Given the description of an element on the screen output the (x, y) to click on. 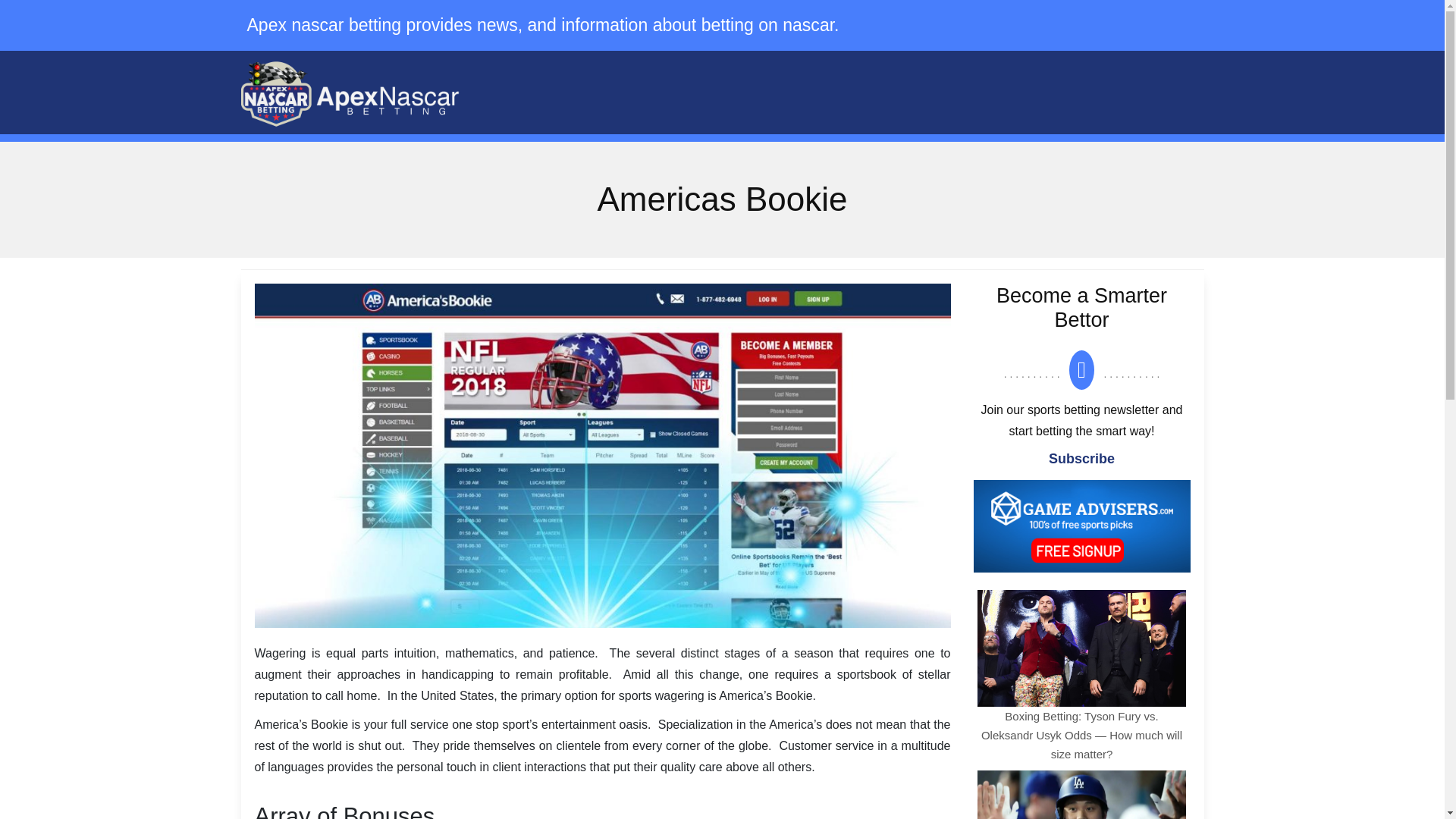
Subscribe (1081, 458)
